Given the description of an element on the screen output the (x, y) to click on. 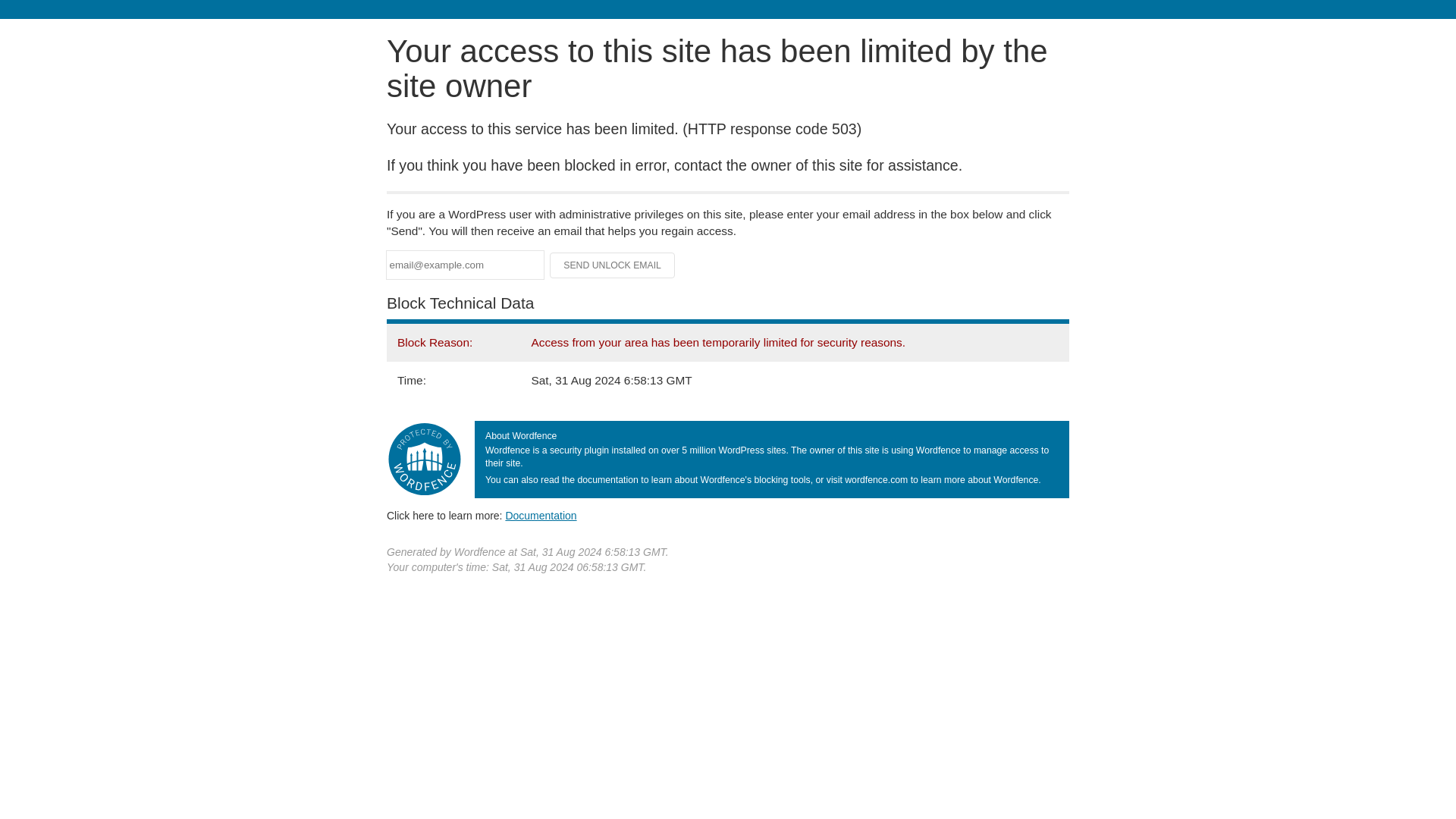
Send Unlock Email (612, 265)
Send Unlock Email (612, 265)
Documentation (540, 515)
